Given the description of an element on the screen output the (x, y) to click on. 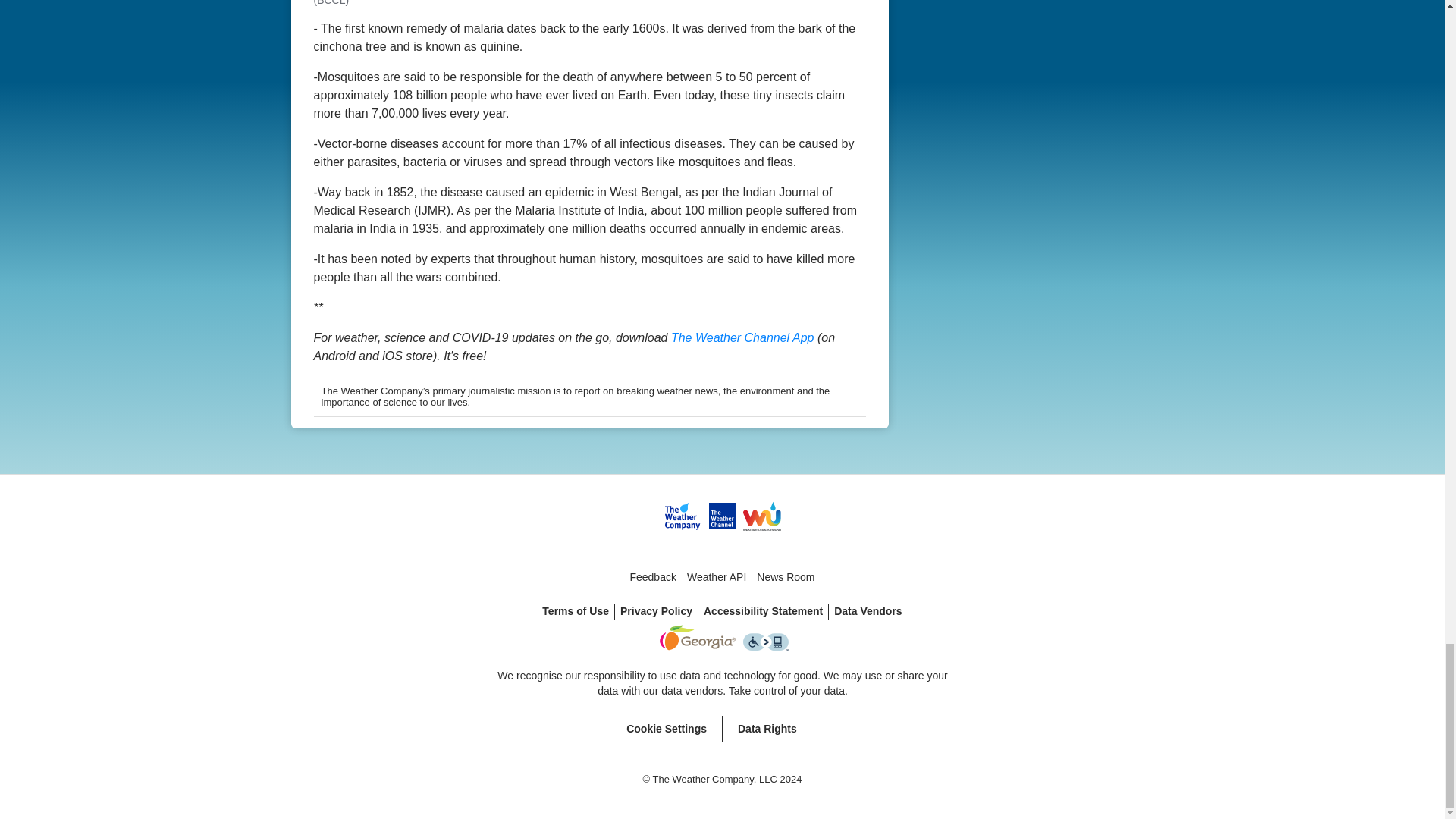
Weather API (716, 577)
Data Rights (766, 728)
eSSENTIAL Accessibility (765, 646)
Georgia (697, 637)
Privacy Policy (656, 611)
Data Vendors (867, 611)
eSSENTIAL Accessibility (765, 641)
Terms of Use (575, 611)
Feedback (652, 577)
The Weather Channel App (742, 337)
